Given the description of an element on the screen output the (x, y) to click on. 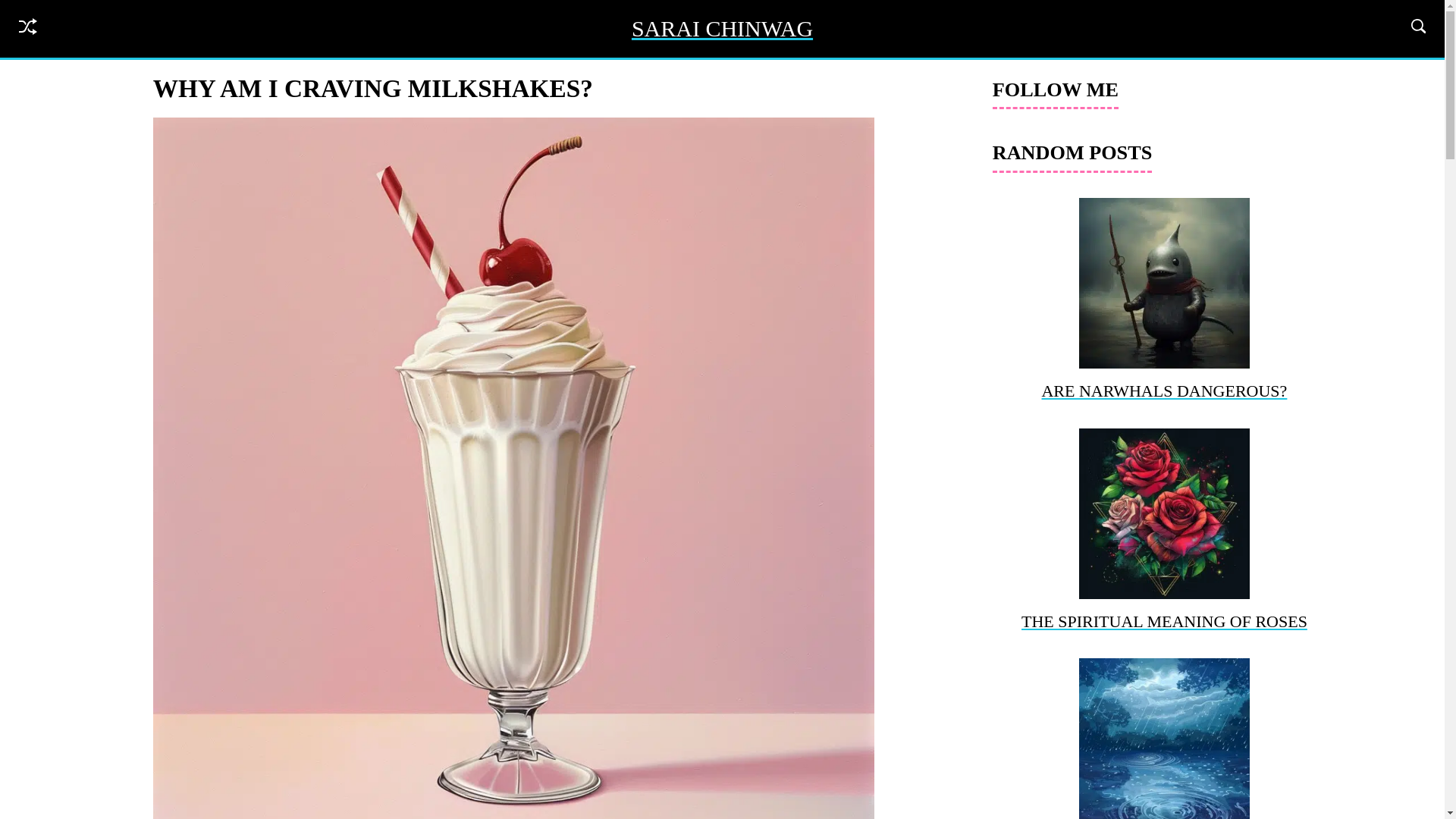
SARAI CHINWAG (721, 27)
ARE NARWHALS DANGEROUS? (1164, 301)
THE SPIRITUAL MEANING OF ROSES (1164, 532)
THE SPIRITUAL MEANING OF RAIN (1164, 738)
